Given the description of an element on the screen output the (x, y) to click on. 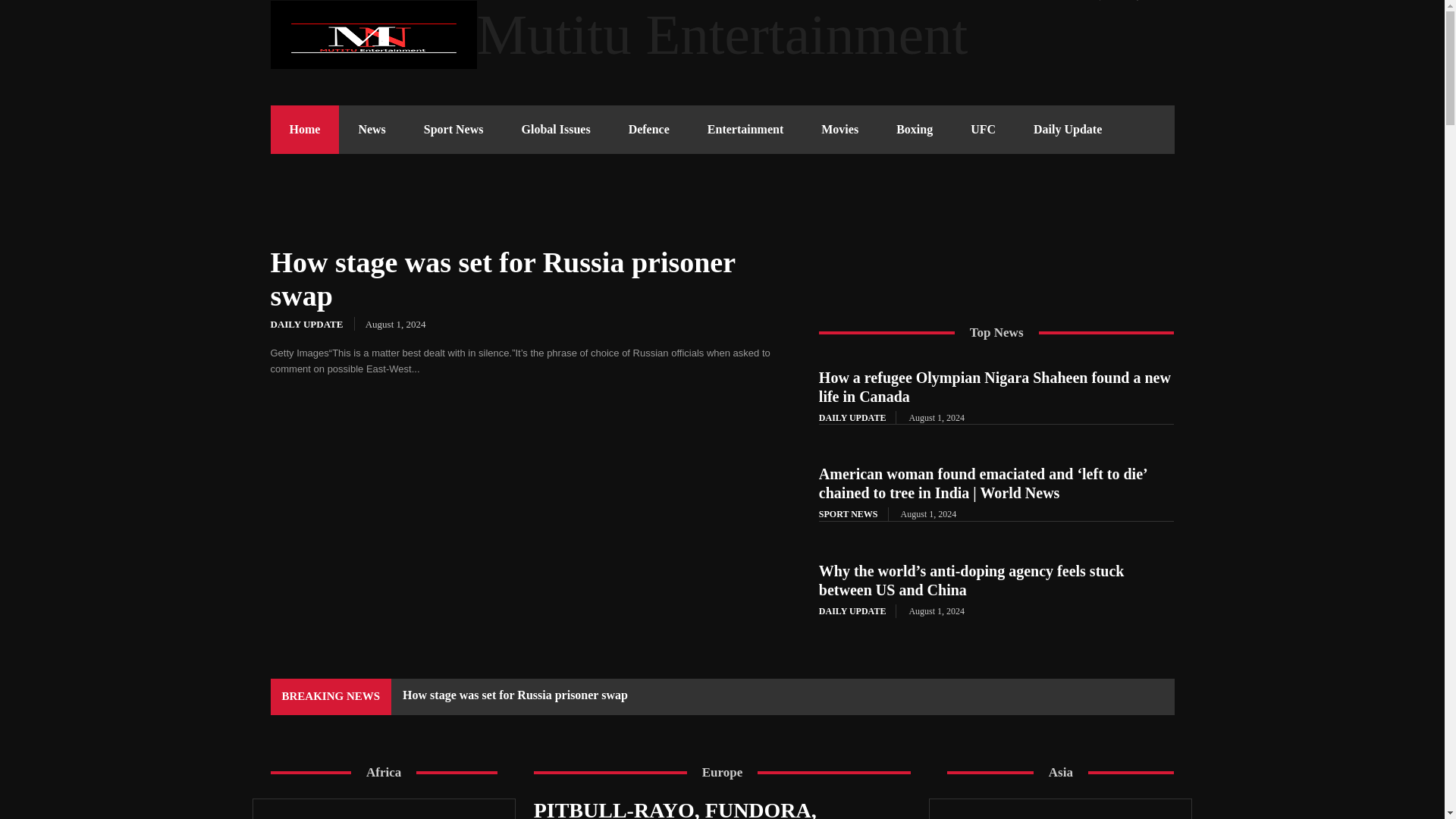
How stage was set for Russia prisoner swap (525, 505)
Sport News (453, 129)
News (371, 129)
Movies (839, 129)
Home (304, 129)
UFC (983, 129)
Boxing (914, 129)
How stage was set for Russia prisoner swap (502, 279)
Defence (649, 129)
Global Issues (555, 129)
Entertainment (745, 129)
Mutitu Entertainment (721, 34)
